Given the description of an element on the screen output the (x, y) to click on. 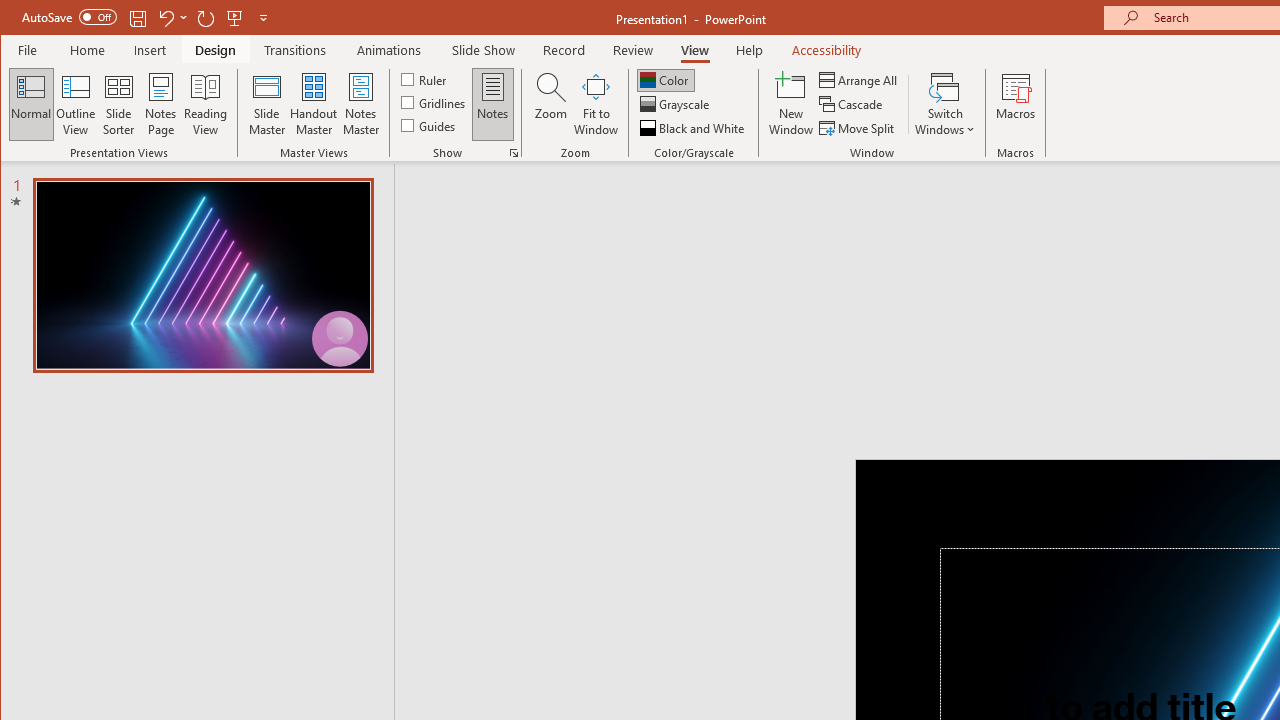
Zoom... (550, 104)
